Given the description of an element on the screen output the (x, y) to click on. 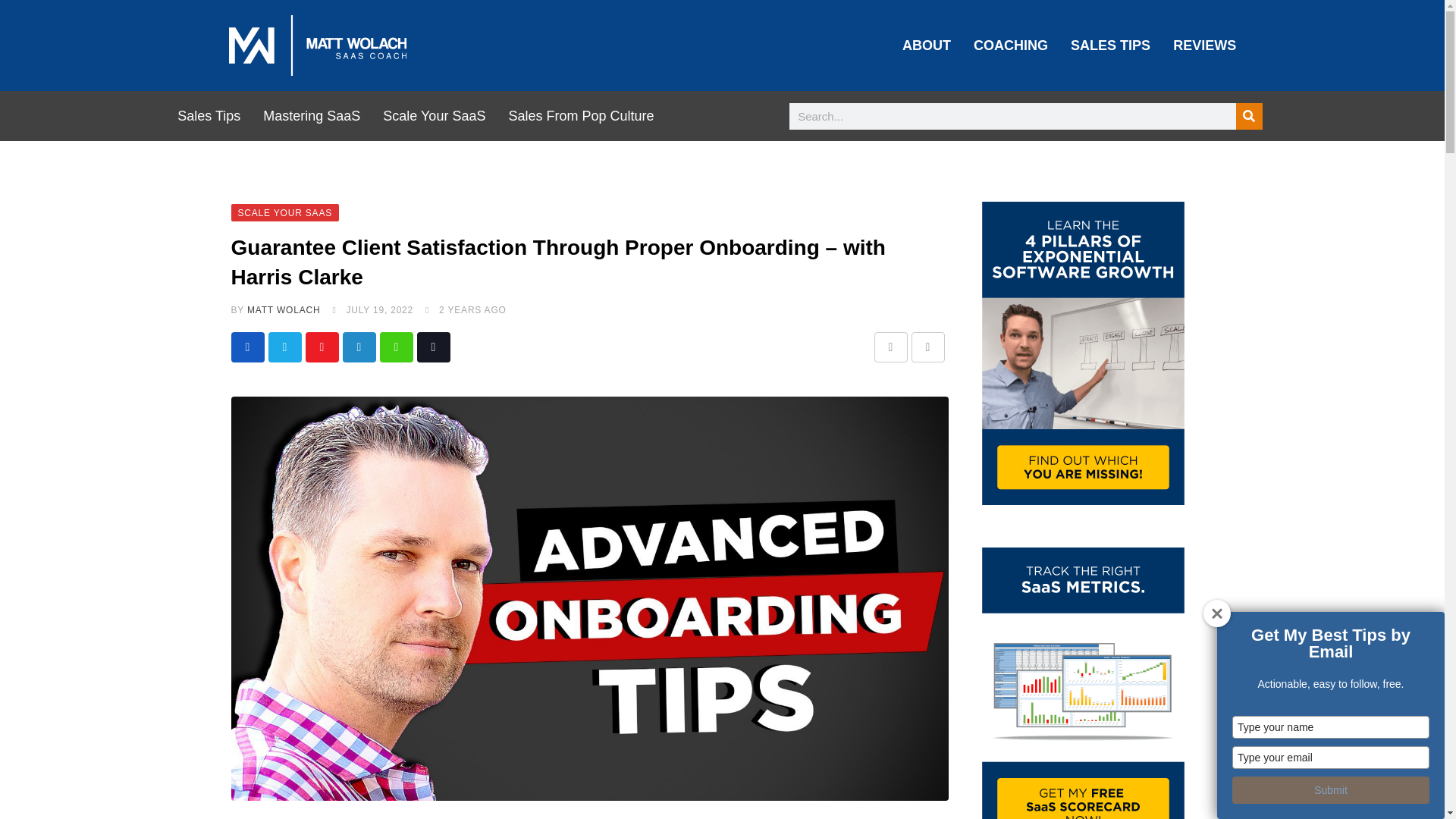
Posts by Matt Wolach (283, 309)
Mastering SaaS (312, 115)
Sales From Pop Culture (580, 115)
SCALE YOUR SAAS (284, 211)
MATT WOLACH (283, 309)
Sales Tips (208, 115)
ABOUT (926, 45)
COACHING (1010, 45)
Scale Your SaaS (434, 115)
SALES TIPS (1110, 45)
transparent-png-file-1-logo-matt-wolach (317, 45)
REVIEWS (1204, 45)
